Given the description of an element on the screen output the (x, y) to click on. 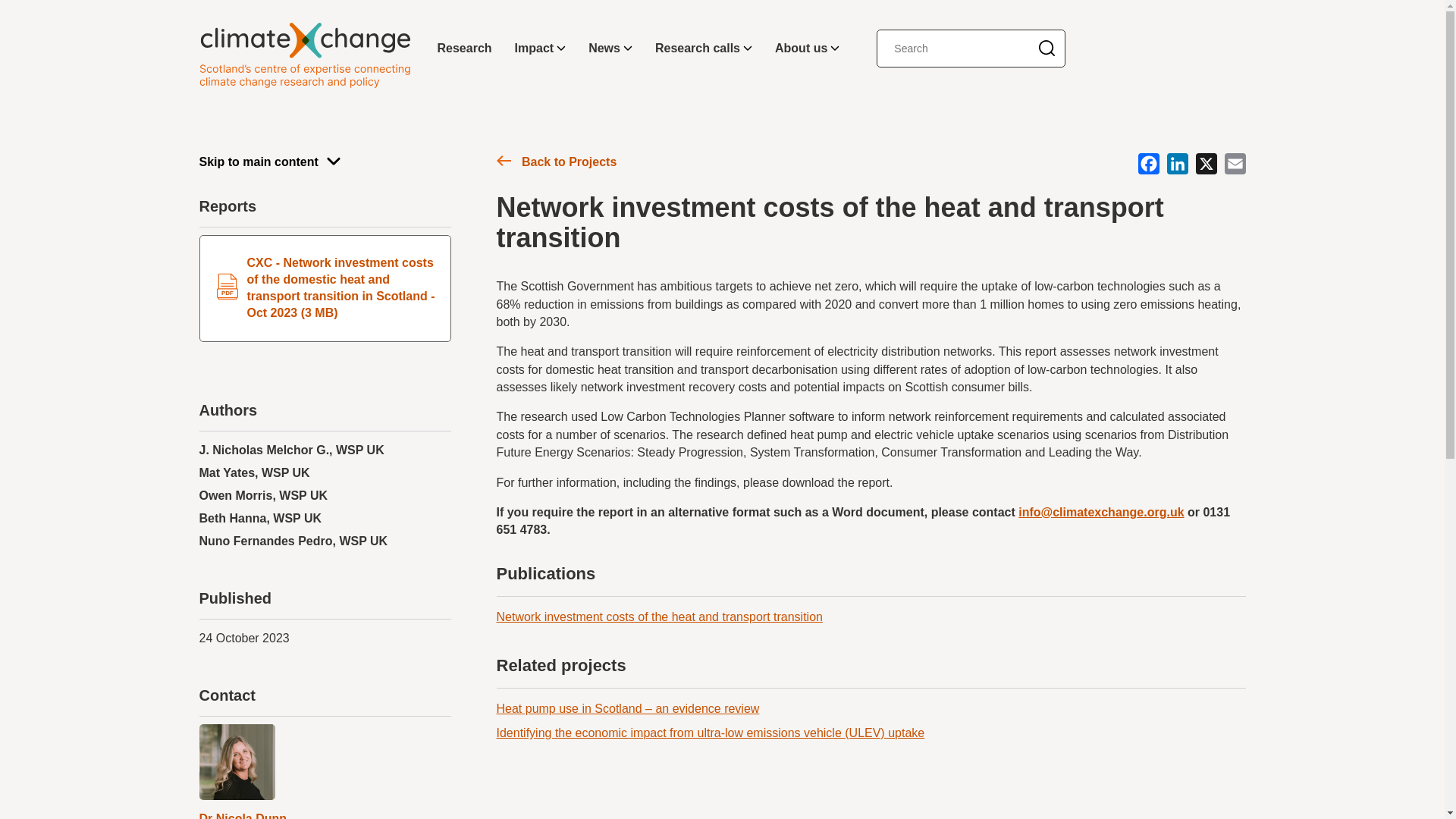
Skip to main content (323, 161)
Impact (540, 48)
Research calls (702, 48)
Back to Projects (555, 163)
News (609, 48)
About us (806, 48)
Research (464, 48)
